Given the description of an element on the screen output the (x, y) to click on. 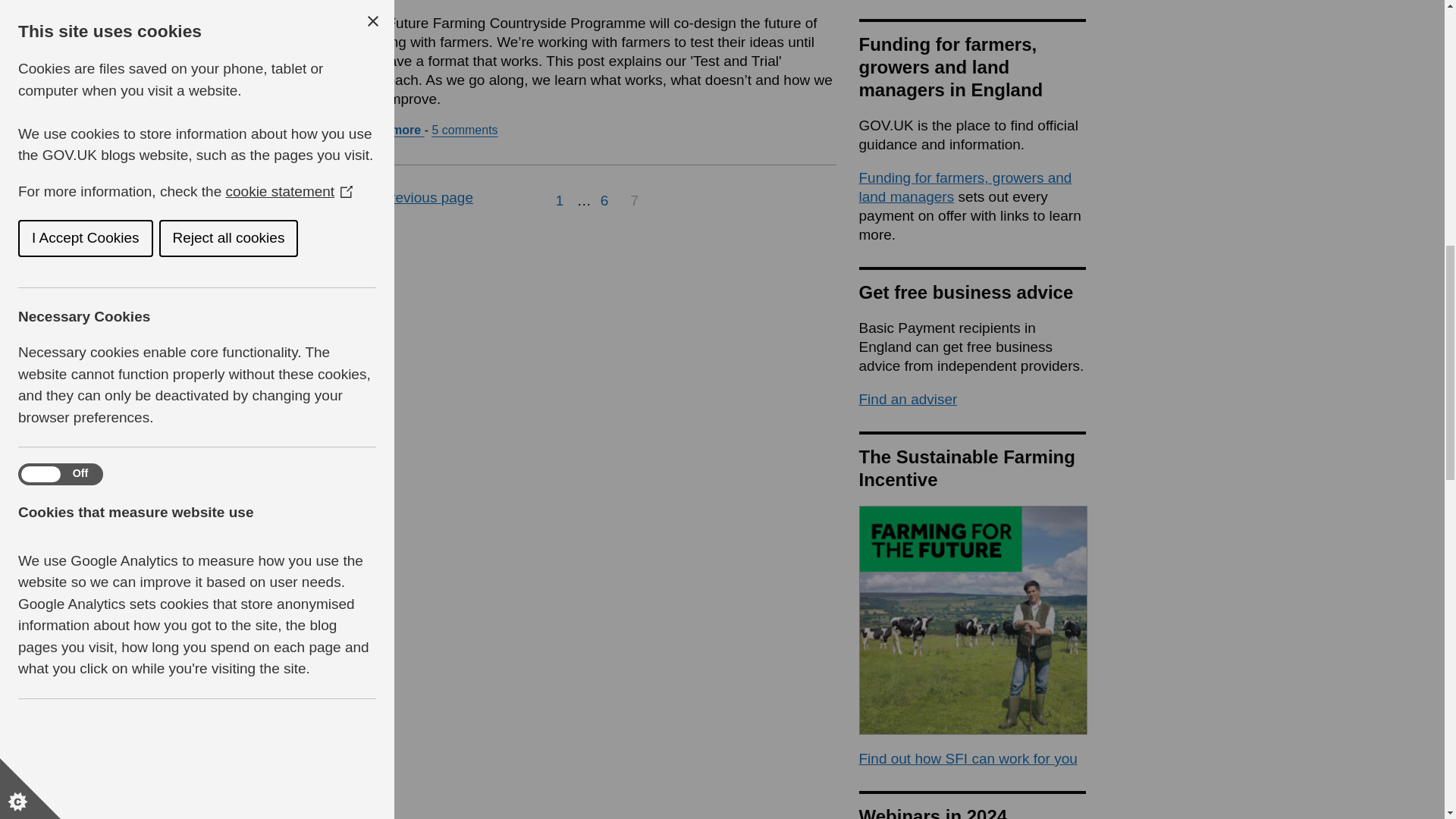
Find out how SFI can work for you (968, 758)
Find an adviser (907, 399)
5 comments (604, 200)
Previous page (463, 129)
Funding for farmers, growers and land managers (421, 197)
